Given the description of an element on the screen output the (x, y) to click on. 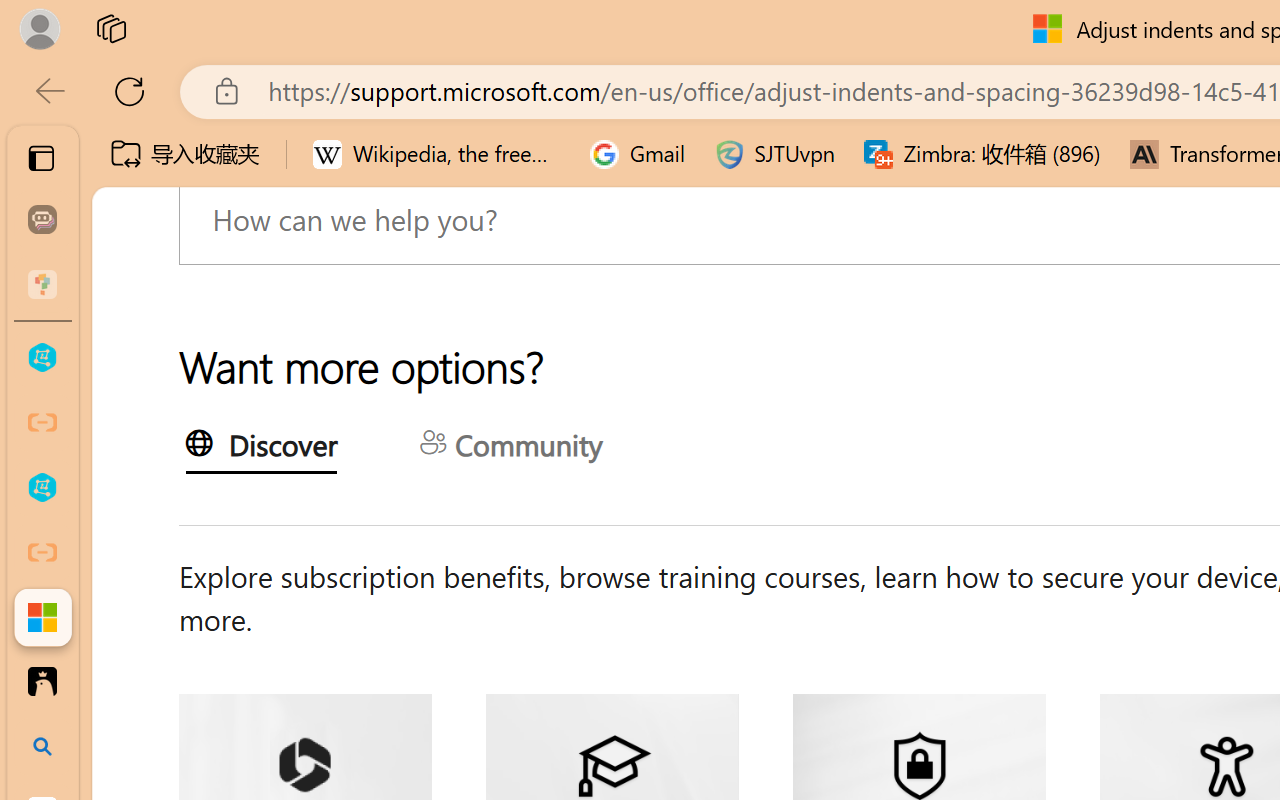
Community (509, 447)
Adjust indents and spacing - Microsoft Support (42, 617)
